Given the description of an element on the screen output the (x, y) to click on. 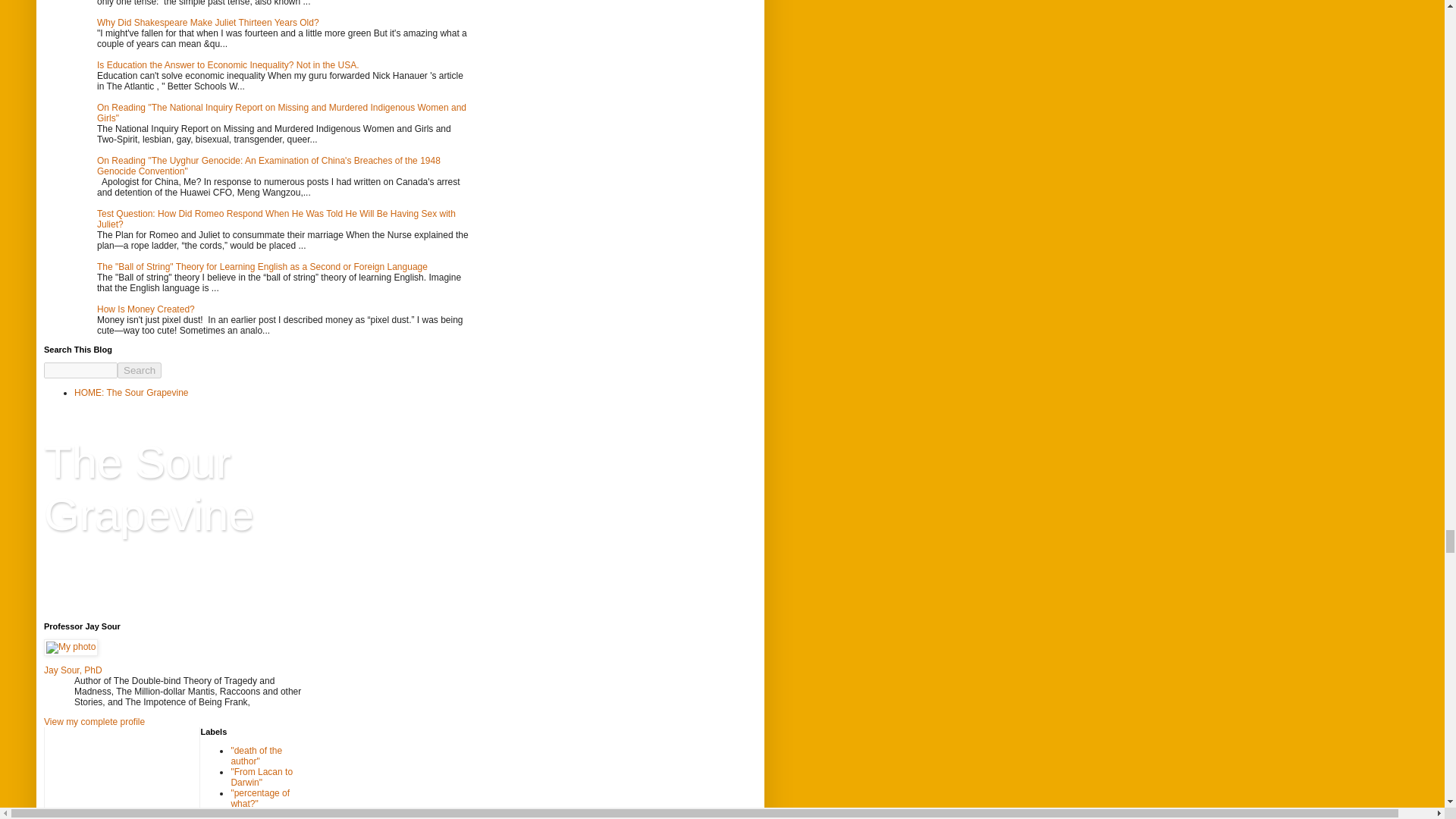
Search (139, 370)
Search (139, 370)
